Given the description of an element on the screen output the (x, y) to click on. 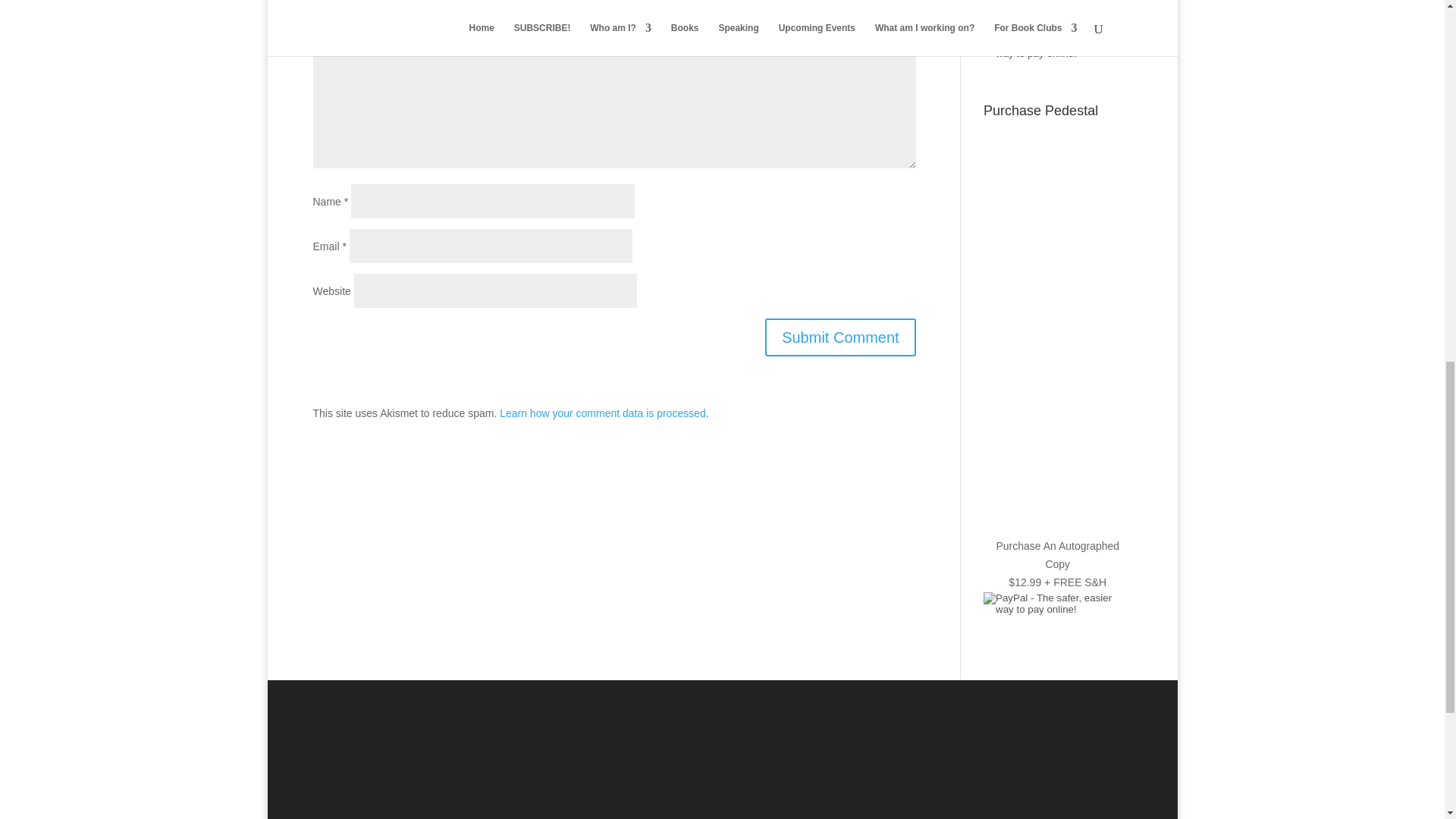
Learn how your comment data is processed (602, 413)
Submit Comment (840, 337)
Submit Comment (840, 337)
